Given the description of an element on the screen output the (x, y) to click on. 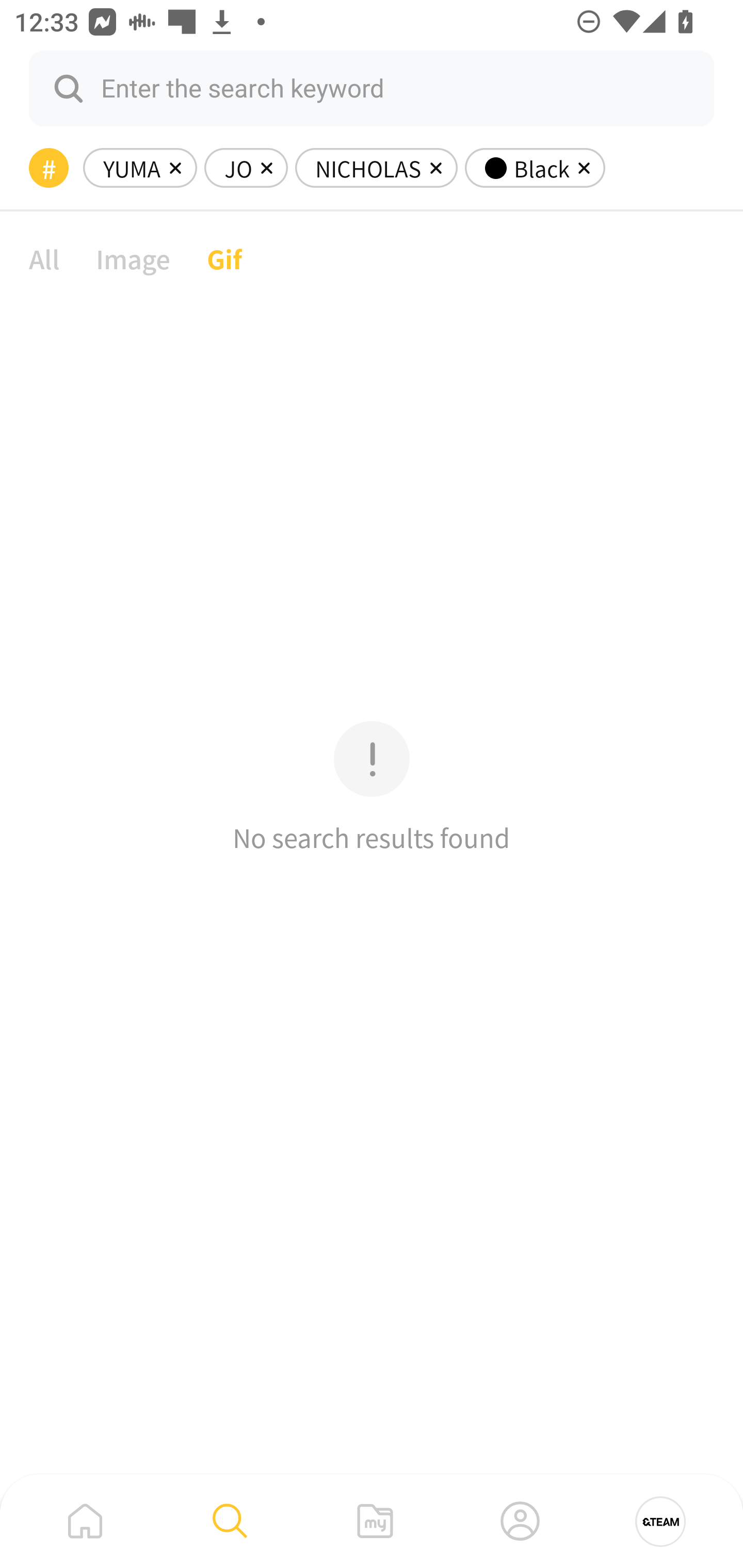
All (44, 257)
Image (132, 257)
Gif (224, 257)
